Given the description of an element on the screen output the (x, y) to click on. 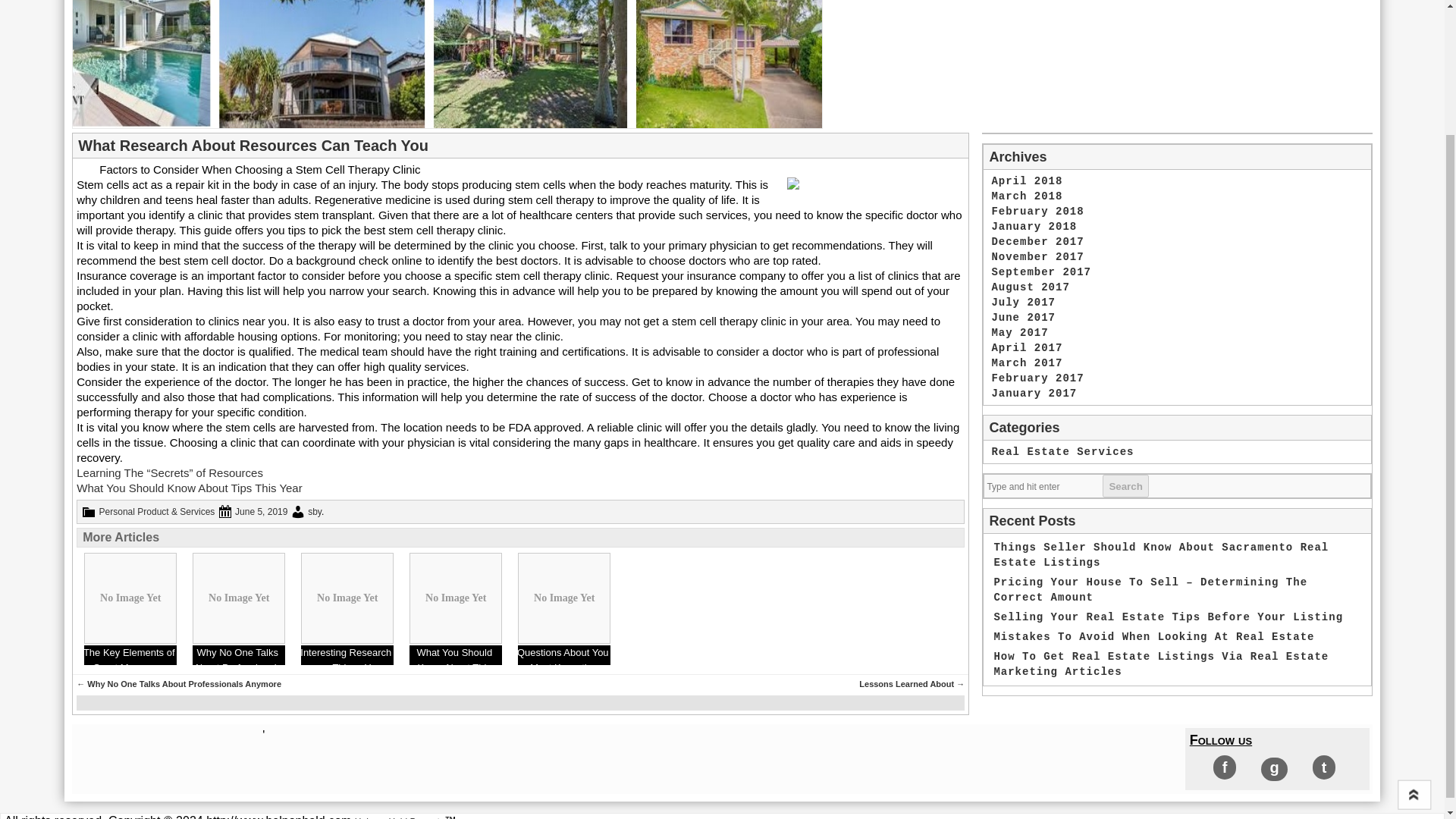
May 2017 (1019, 332)
February 2018 (1037, 211)
January 2017 (1034, 393)
April 2018 (1026, 181)
April 2017 (1026, 347)
What You Should Know About Tips This Year (189, 487)
March 2018 (1026, 196)
Search (1125, 486)
August 2017 (1029, 287)
